Given the description of an element on the screen output the (x, y) to click on. 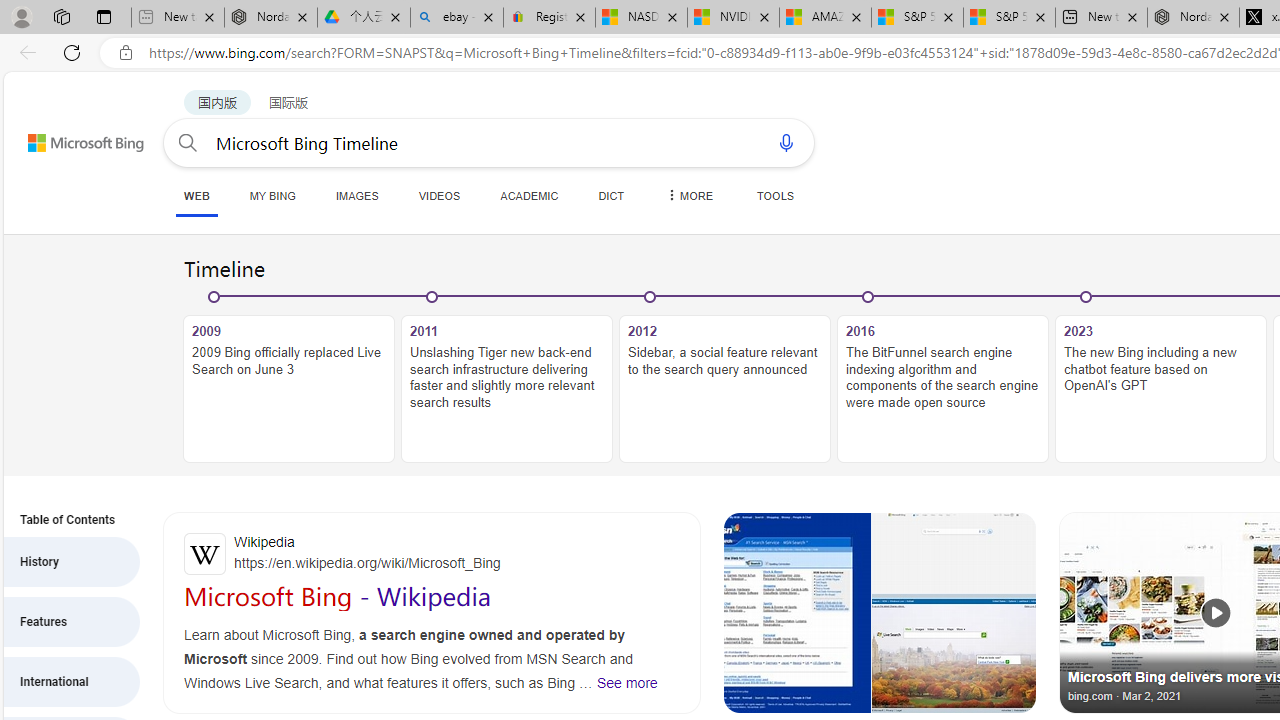
New tab - Sleeping (177, 17)
ACADEMIC (529, 195)
IMAGES (356, 195)
S&P 500, Nasdaq end lower, weighed by Nvidia dip | Watch (1008, 17)
TOOLS (775, 195)
2009 2009 Bing officially replaced Live Search on June 3 (289, 389)
ebay - Search (456, 17)
WEB (196, 195)
